Given the description of an element on the screen output the (x, y) to click on. 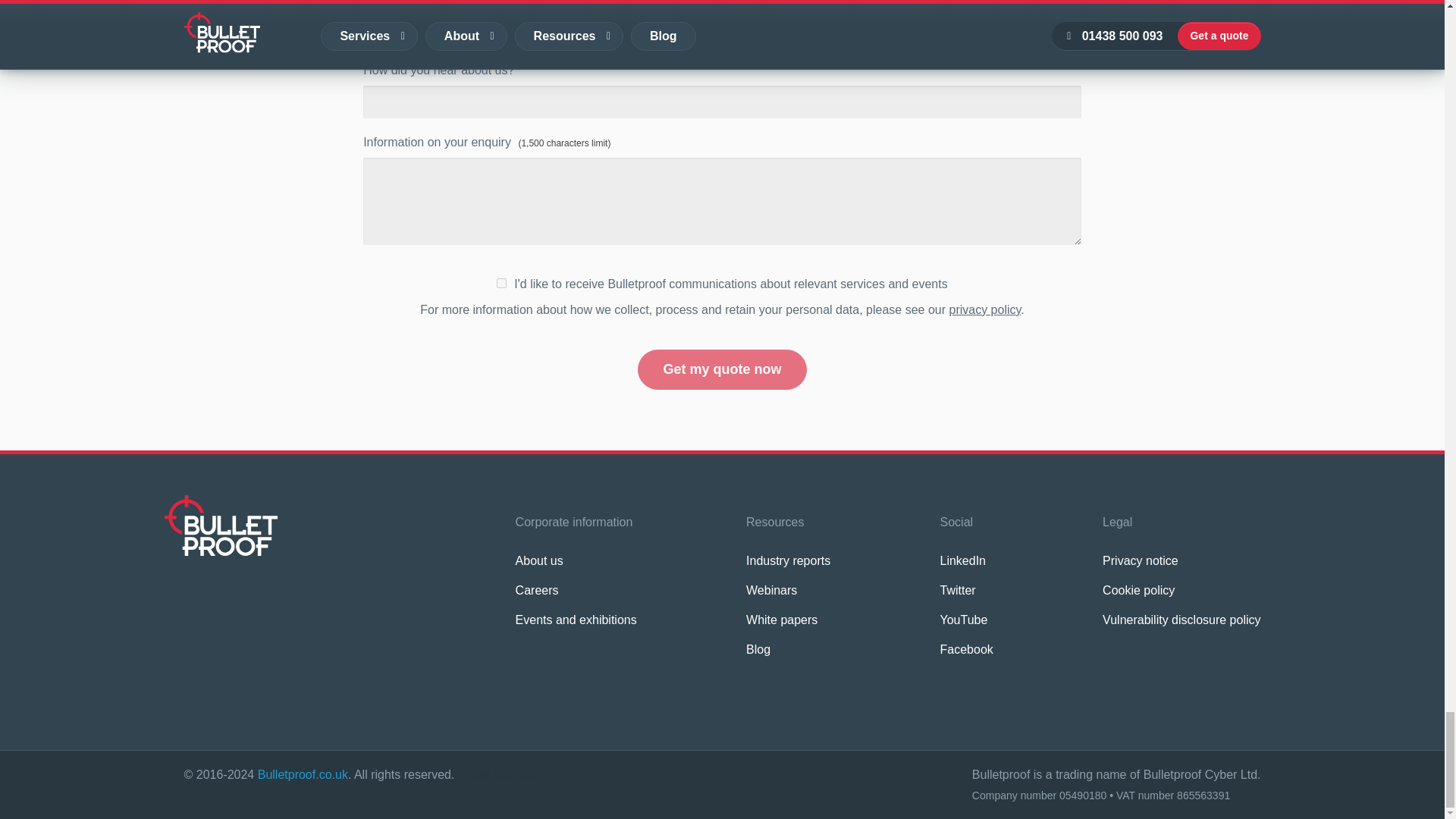
1 (501, 283)
Get my quote now (721, 369)
